Given the description of an element on the screen output the (x, y) to click on. 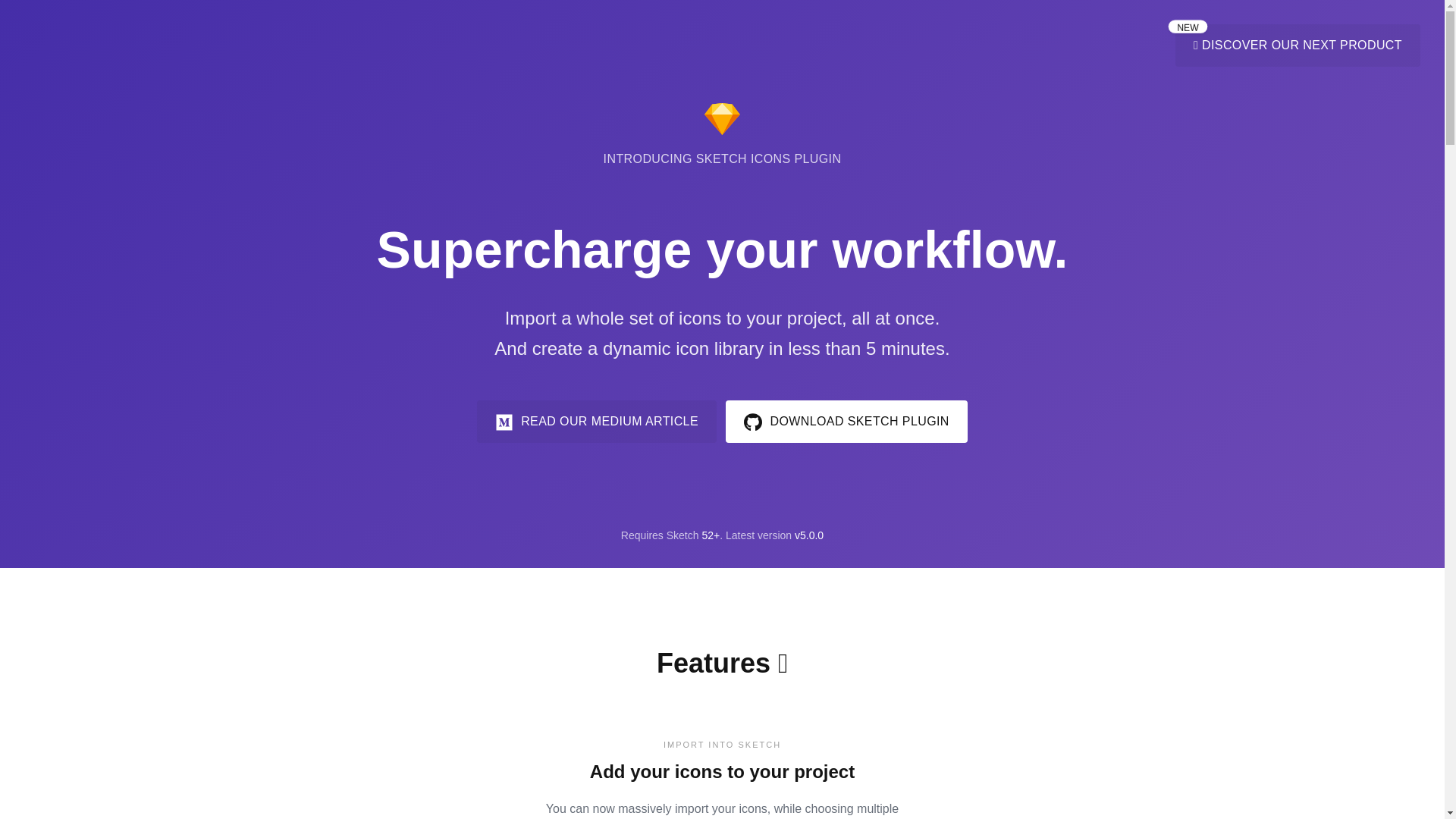
READ OUR MEDIUM ARTICLE (596, 421)
DOWNLOAD SKETCH PLUGIN (845, 421)
v5.0.0 (809, 535)
